Given the description of an element on the screen output the (x, y) to click on. 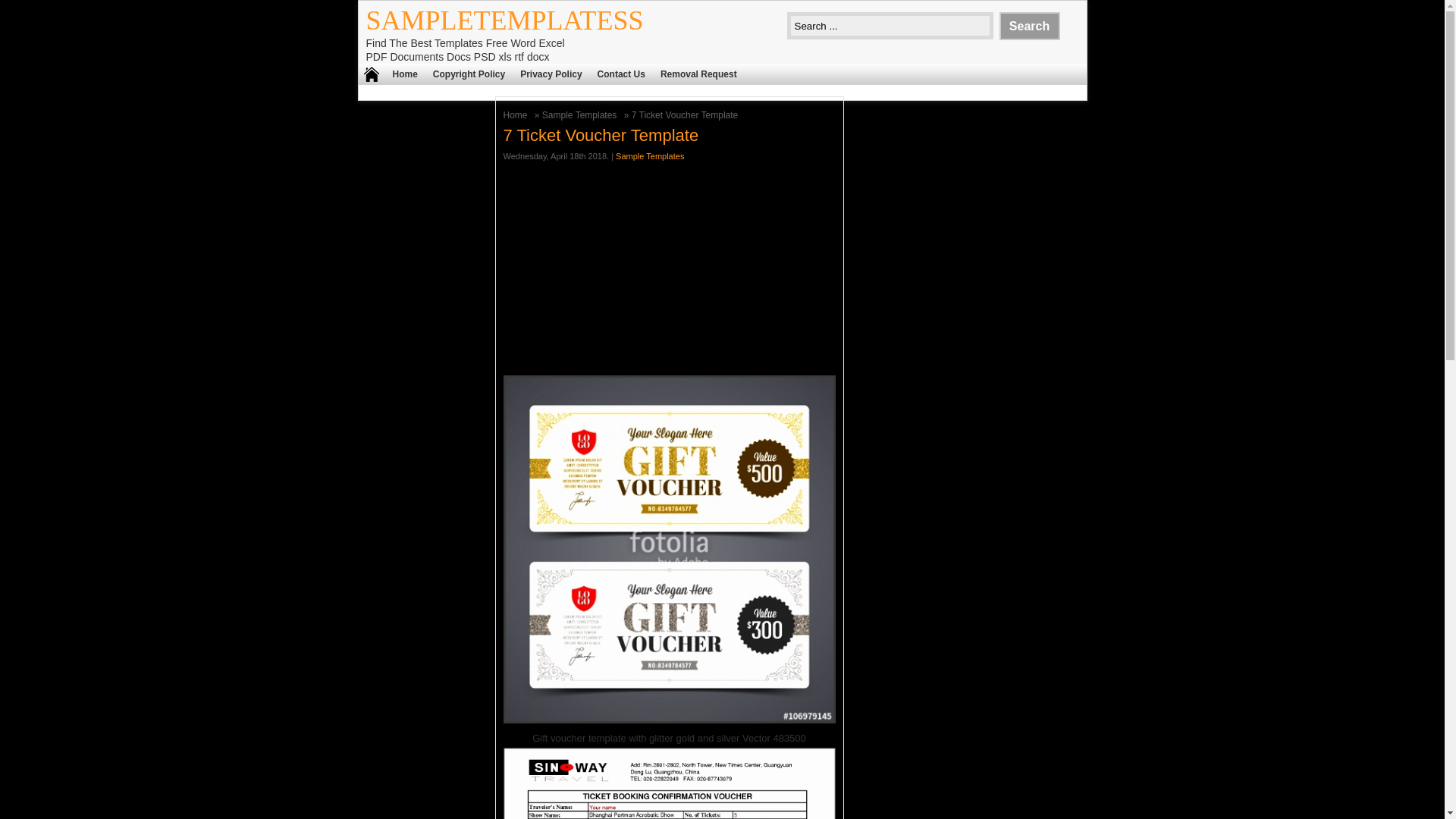
Search ...  (889, 25)
SAMPLETEMPLATESS (504, 20)
Sample Templates (649, 155)
Search (1028, 26)
Book Shanghai acrobat show ticket Portman Acrobat Show z1uza (669, 783)
Copyright Policy (468, 74)
SampleTemplatess (504, 20)
Privacy Policy (550, 74)
Contact Us (620, 74)
Home (517, 114)
Search (1028, 26)
Removal Request (698, 74)
Home (405, 74)
Sample Templates (581, 114)
